Given the description of an element on the screen output the (x, y) to click on. 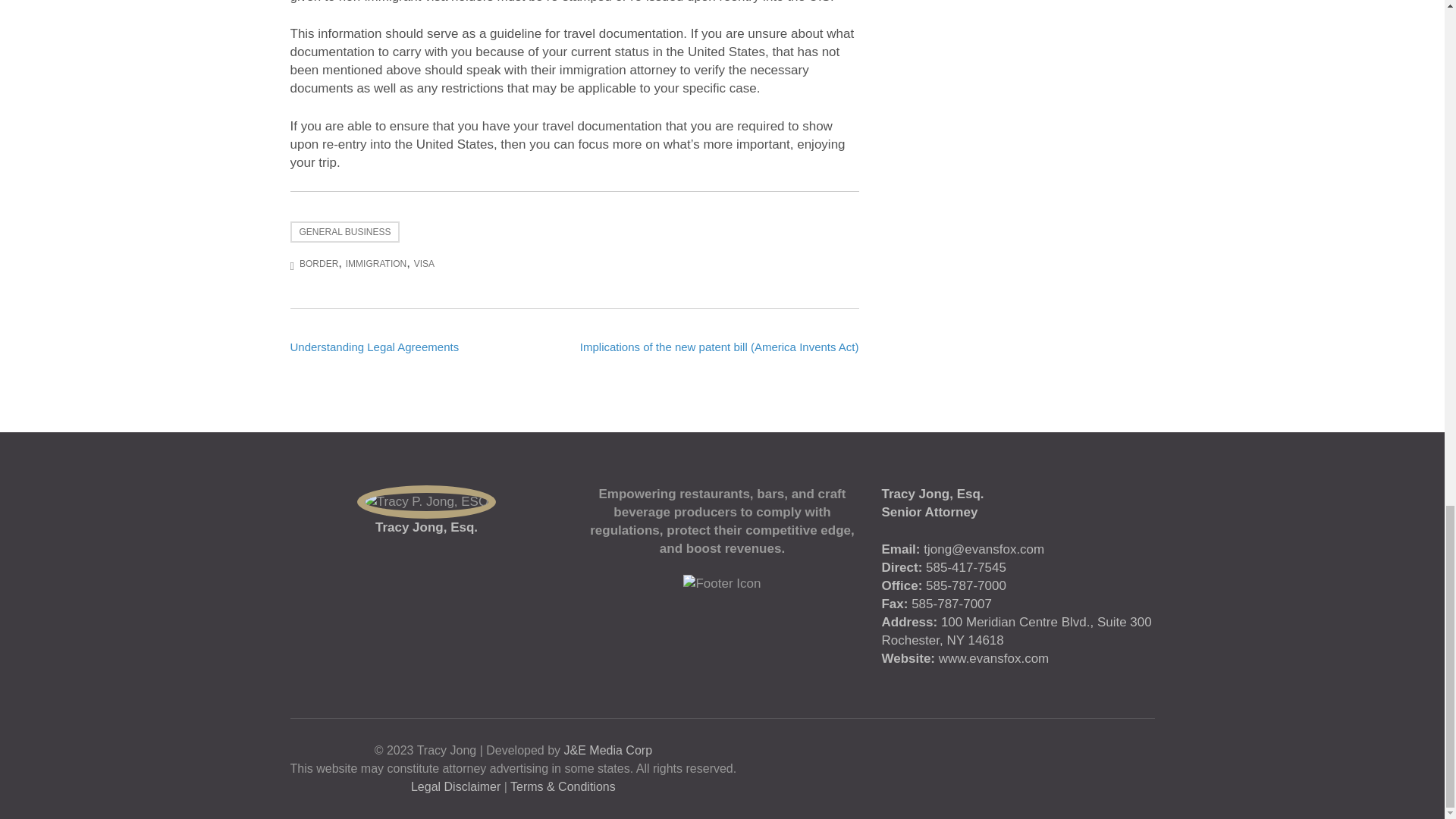
GENERAL BUSINESS (343, 231)
Understanding Legal Agreements (373, 346)
IMMIGRATION (376, 263)
BORDER (318, 263)
VISA (423, 263)
